Given the description of an element on the screen output the (x, y) to click on. 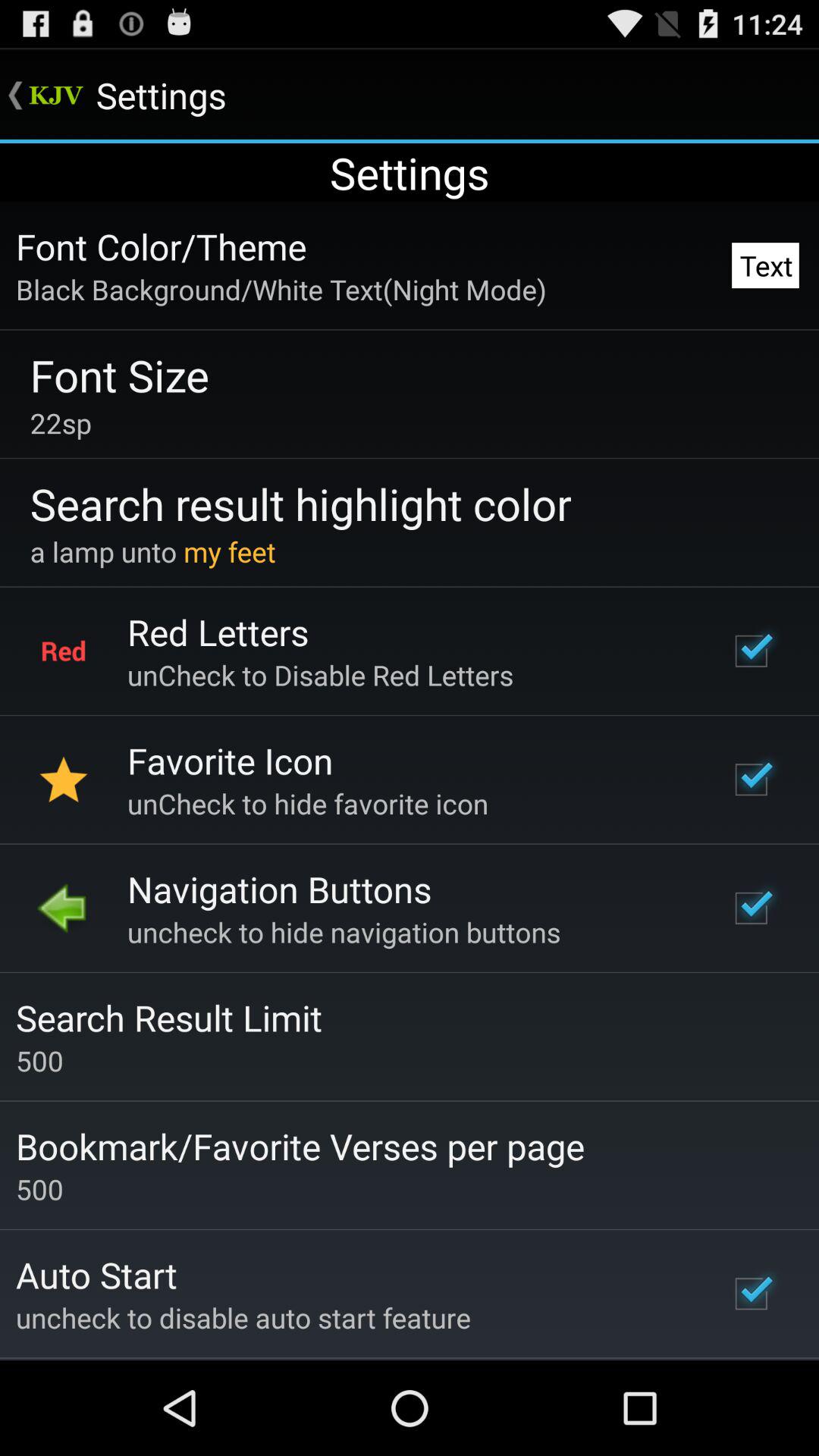
press the font color/theme (160, 246)
